Given the description of an element on the screen output the (x, y) to click on. 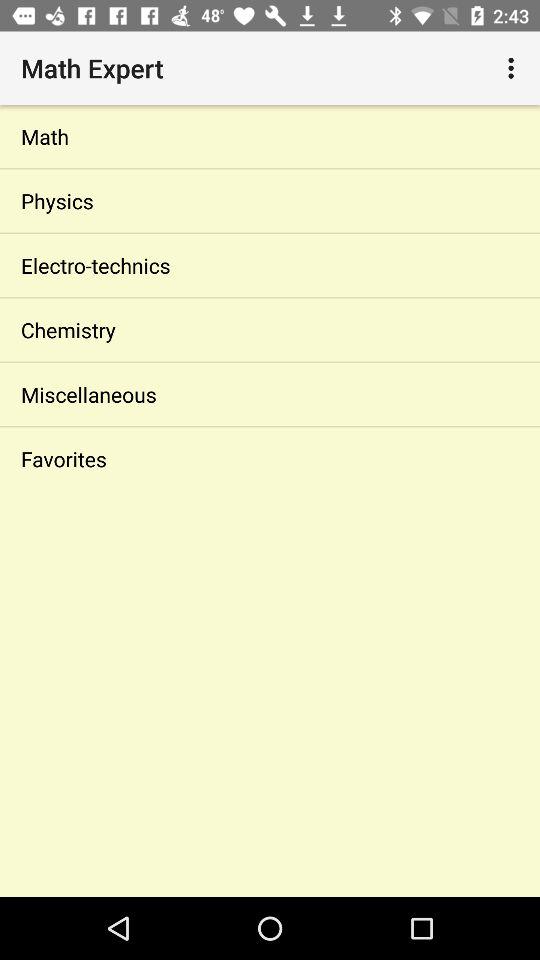
swipe until the physics (270, 200)
